Given the description of an element on the screen output the (x, y) to click on. 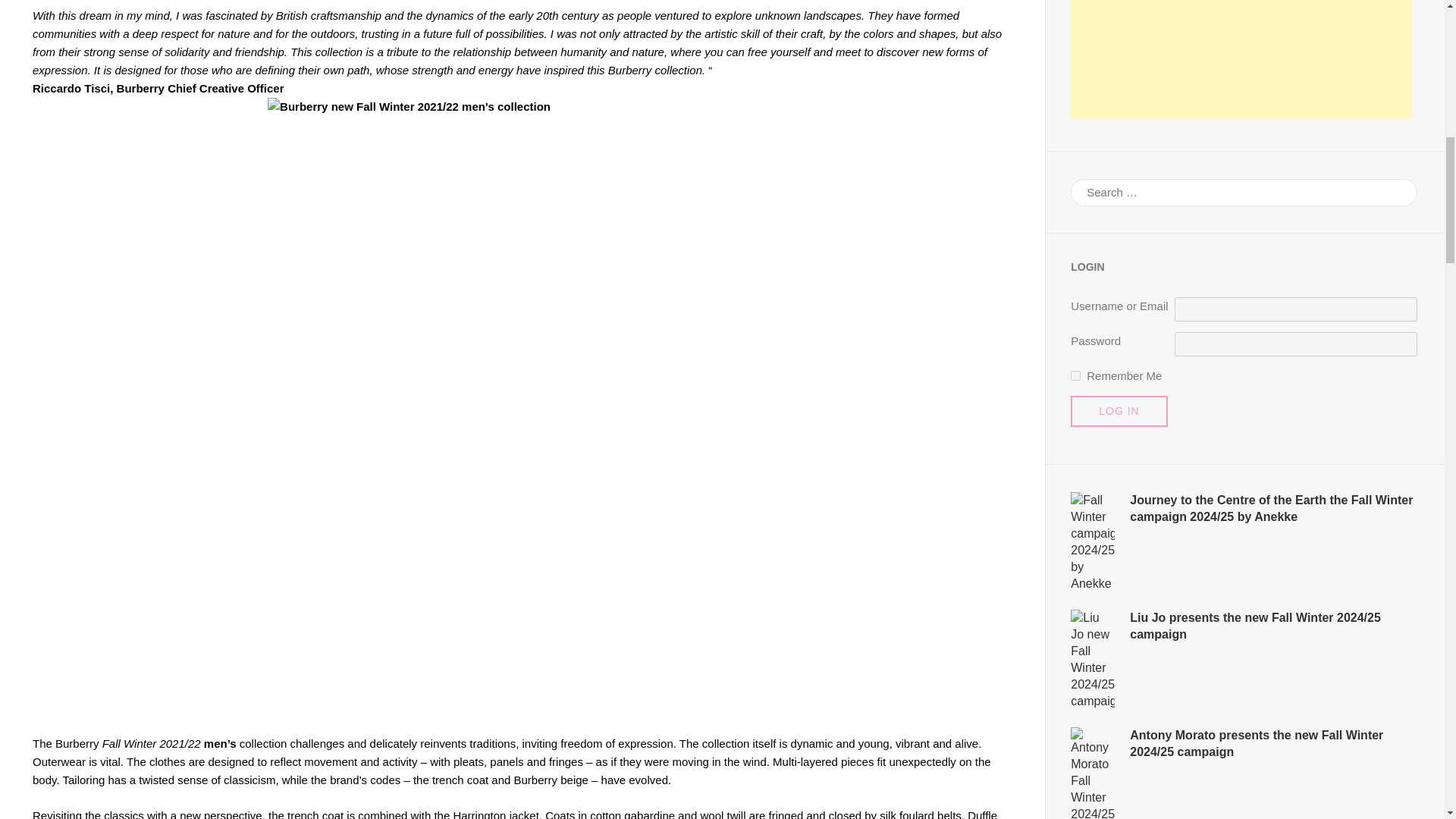
Log In (1118, 410)
Search (1395, 191)
Search (1395, 191)
forever (1075, 375)
